Given the description of an element on the screen output the (x, y) to click on. 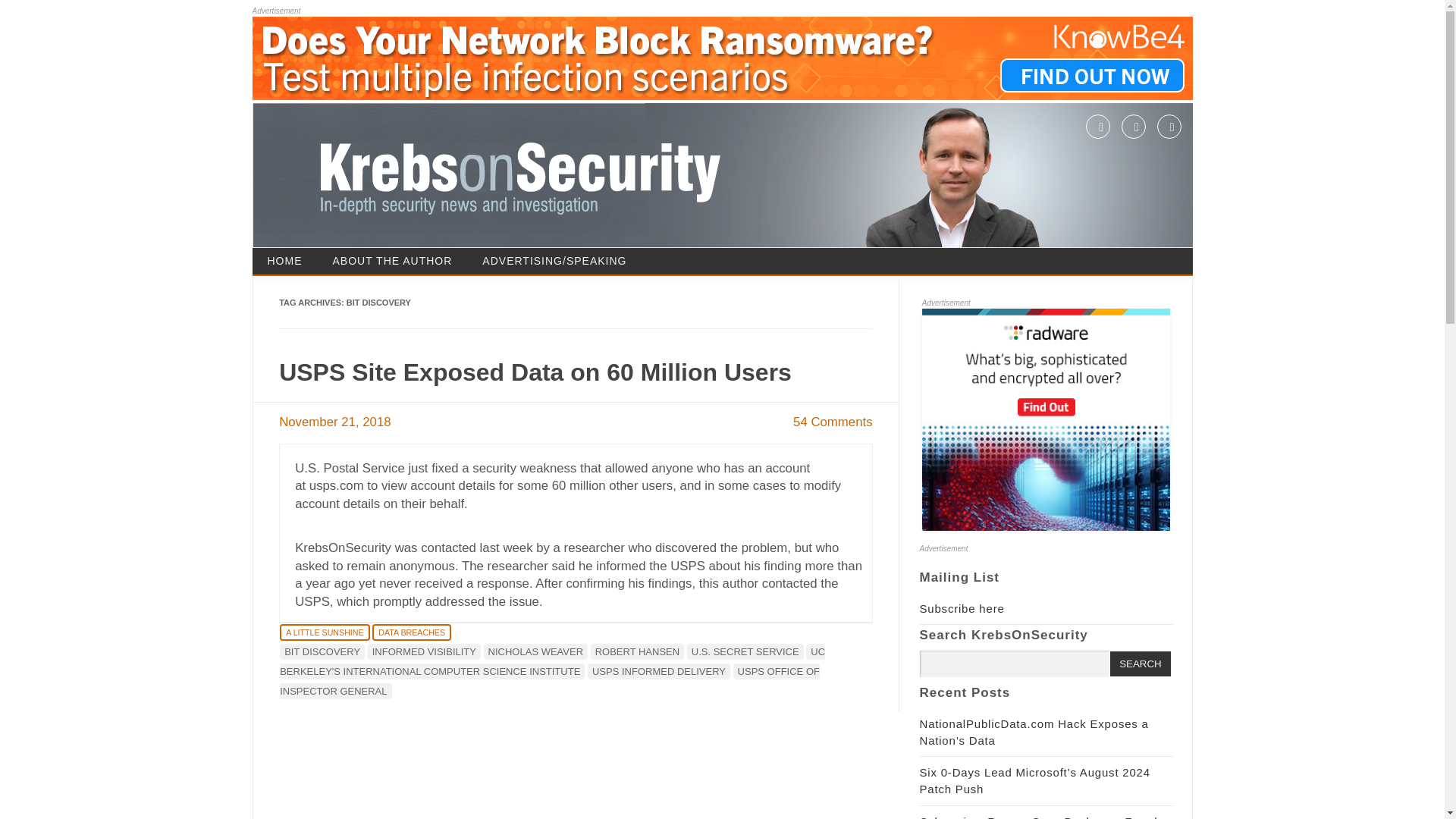
Skip to content (764, 253)
Permalink to USPS Site Exposed Data on 60 Million Users (535, 371)
A LITTLE SUNSHINE (324, 632)
USPS OFFICE OF INSPECTOR GENERAL (549, 681)
INFORMED VISIBILITY (424, 651)
Skip to content (764, 253)
54 Comments (832, 421)
Search (1139, 663)
U.S. SECRET SERVICE (745, 651)
Subscribe here (961, 608)
